Given the description of an element on the screen output the (x, y) to click on. 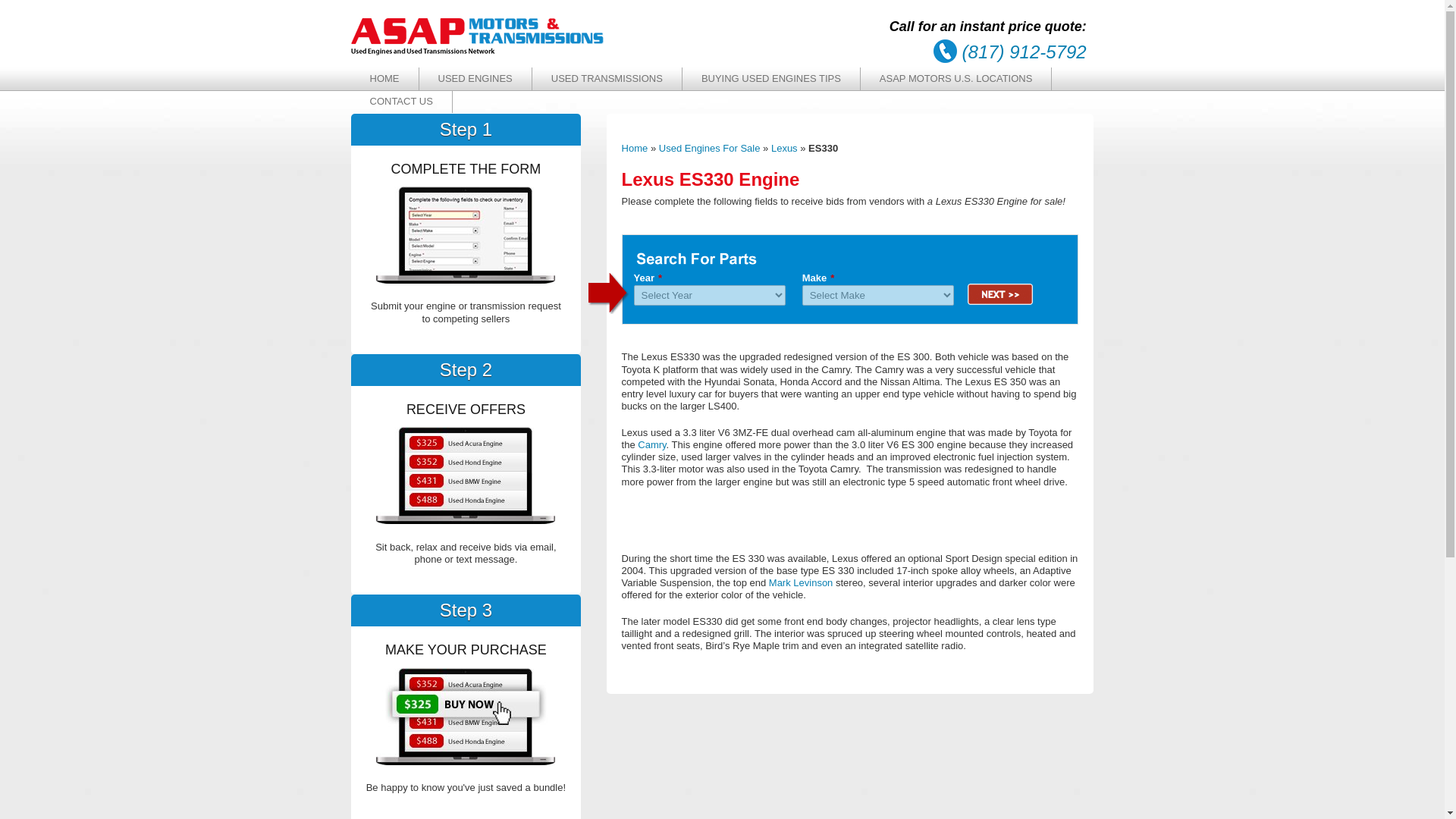
COMPLETE THE FORM (464, 234)
RECEIVE OFFERS (464, 475)
USED ENGINES (475, 78)
USED TRANSMISSIONS (606, 78)
RECEIVE OFFERS (464, 715)
HOME (383, 78)
ASAP MOTORS (477, 51)
BUYING USED ENGINES TIPS (771, 78)
ASAP MOTORS U.S. LOCATIONS (955, 78)
